Given the description of an element on the screen output the (x, y) to click on. 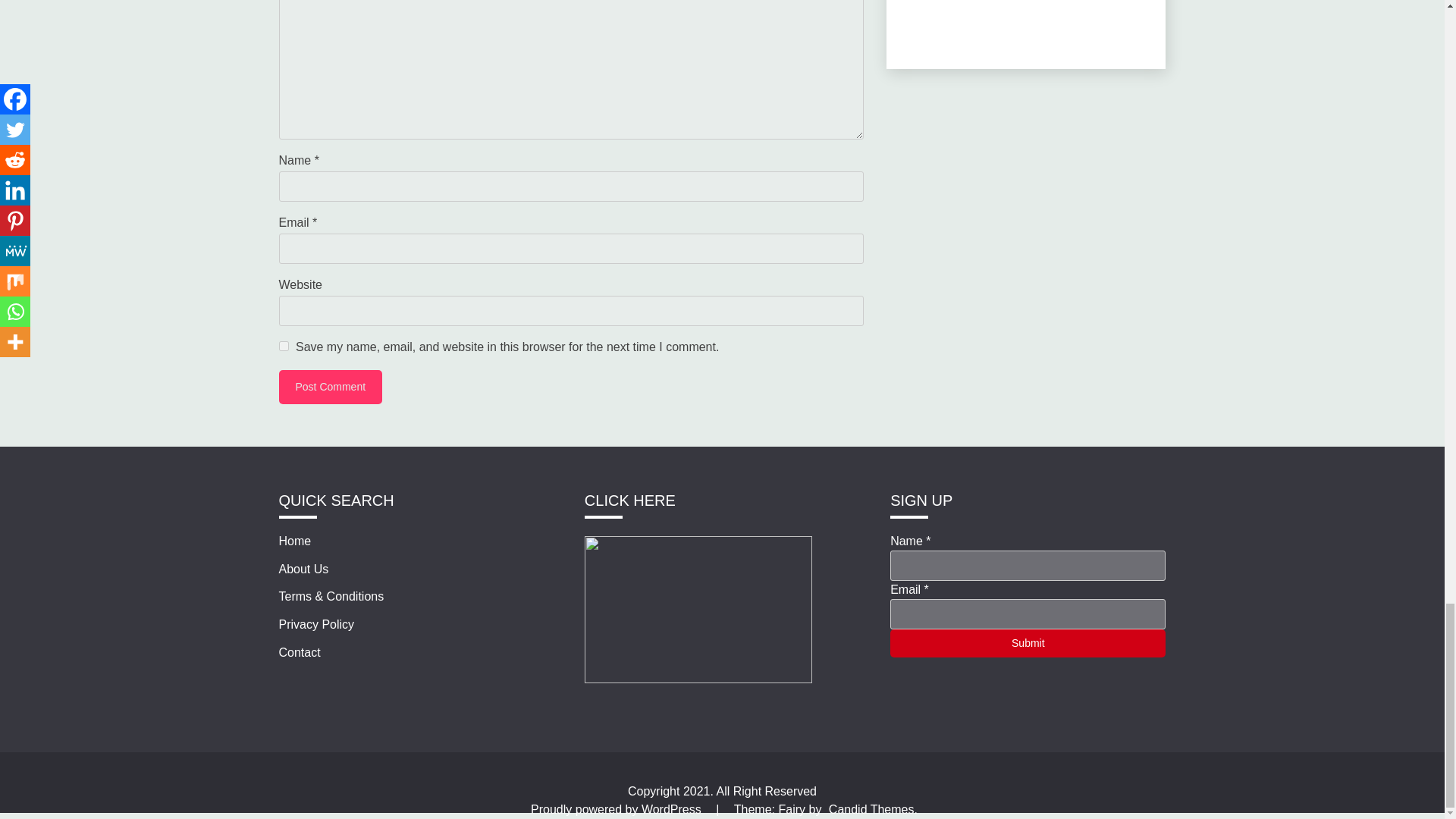
yes (283, 346)
Post Comment (330, 387)
